Given the description of an element on the screen output the (x, y) to click on. 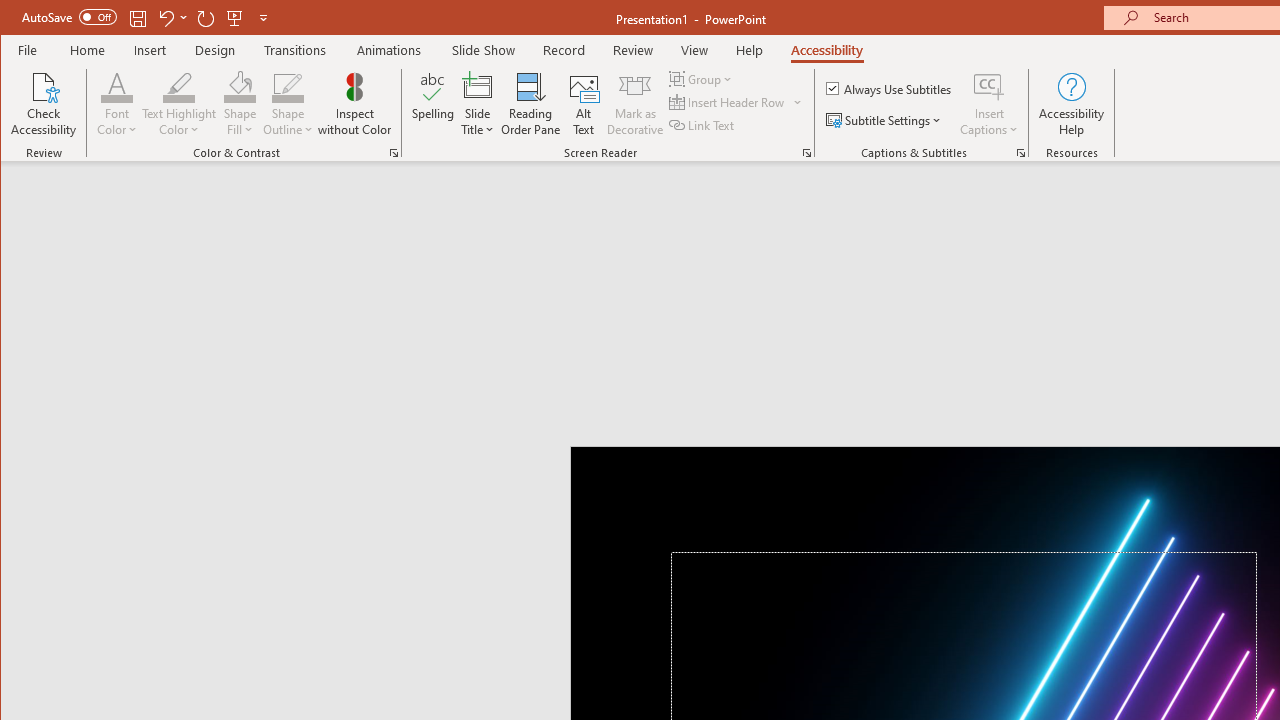
Captions & Subtitles (1020, 152)
Always Use Subtitles (890, 88)
